Given the description of an element on the screen output the (x, y) to click on. 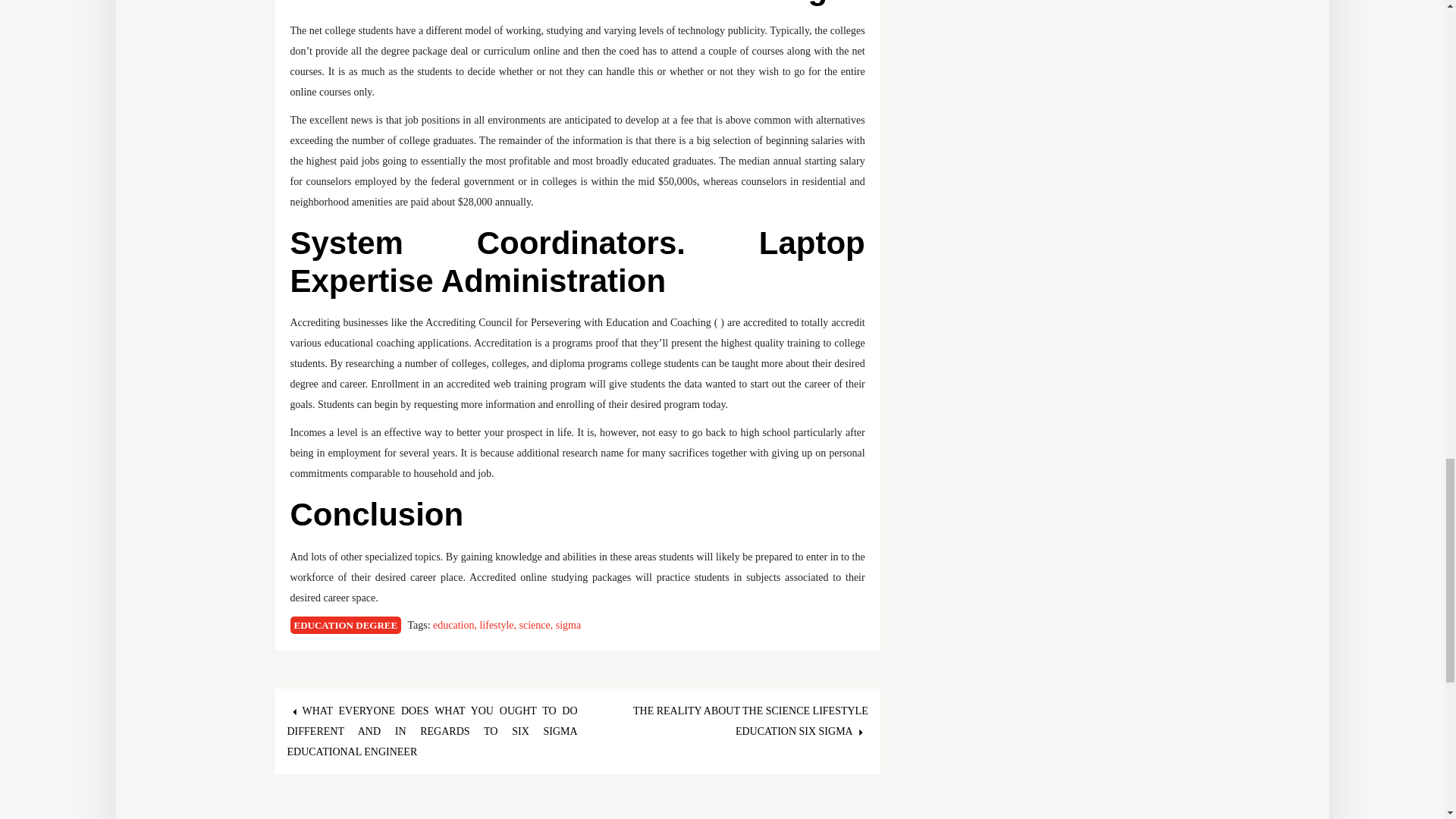
sigma (568, 624)
THE REALITY ABOUT THE SCIENCE LIFESTYLE EDUCATION SIX SIGMA (750, 721)
lifestyle (498, 624)
education (455, 624)
EDUCATION DEGREE (345, 624)
science (537, 624)
